Given the description of an element on the screen output the (x, y) to click on. 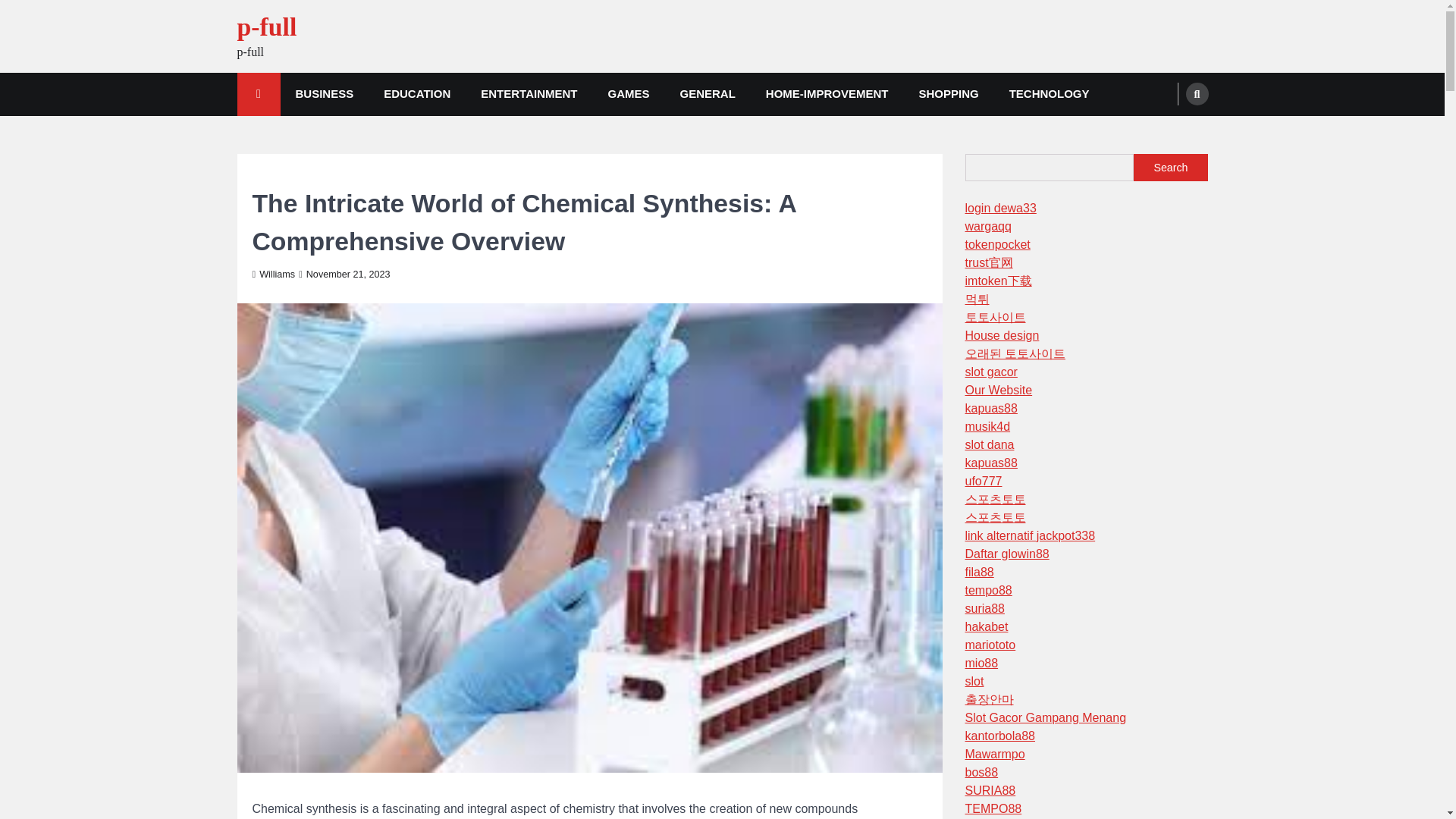
Search (1170, 166)
GENERAL (706, 94)
wargaqq (986, 226)
tokenpocket (996, 244)
TECHNOLOGY (1049, 94)
HOME-IMPROVEMENT (827, 94)
GAMES (627, 94)
House design (1001, 335)
Search (1197, 93)
musik4d (986, 426)
Search (1168, 129)
p-full (266, 26)
Williams (273, 274)
slot dana (988, 444)
kapuas88 (989, 408)
